Given the description of an element on the screen output the (x, y) to click on. 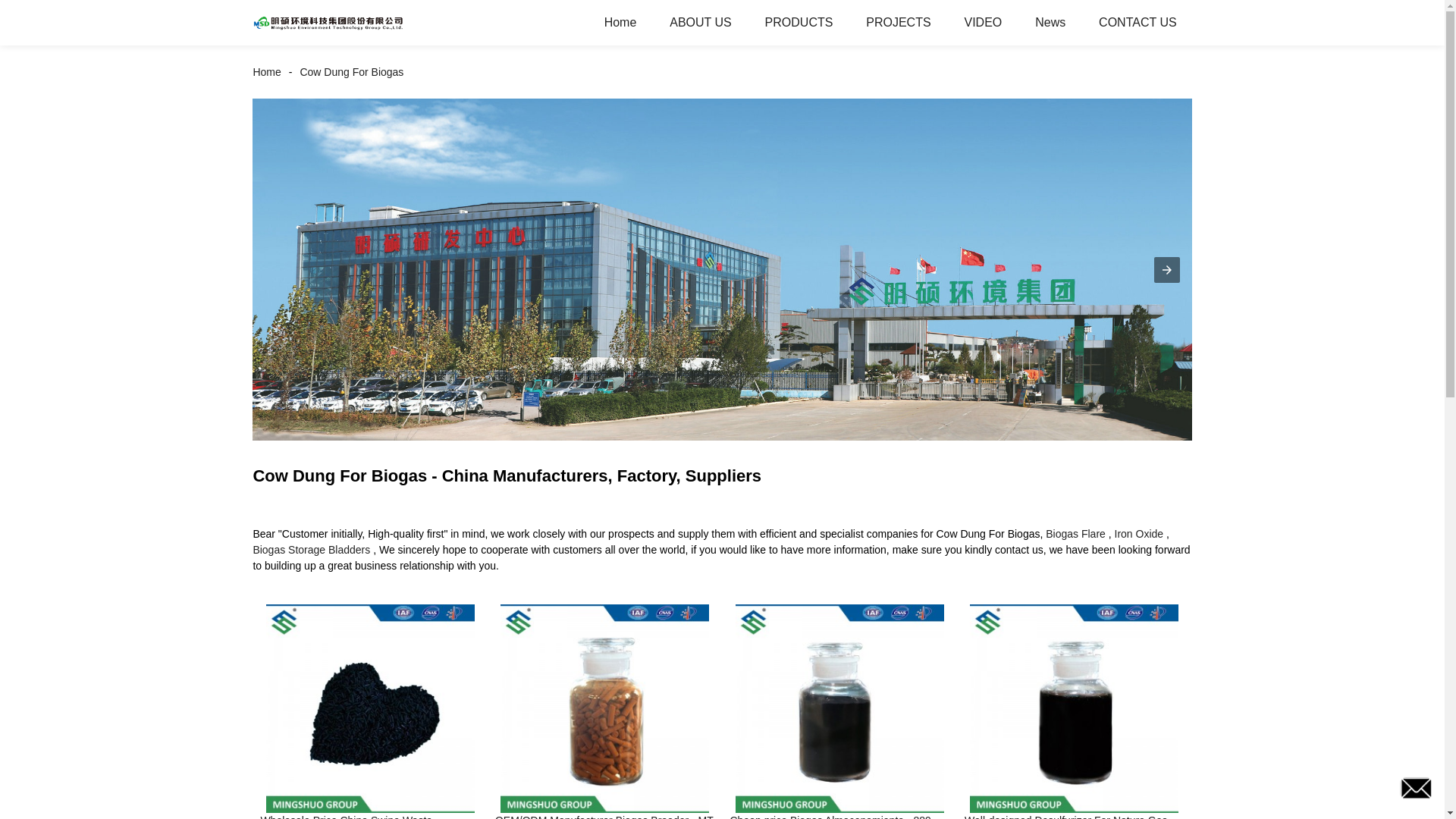
Biogas Storage Bladders (310, 549)
ABOUT US (699, 22)
VIDEO (983, 22)
News (1050, 22)
Home (620, 22)
CONTACT US (1137, 22)
Biogas Flare (1075, 533)
Cow Dung For Biogas (351, 71)
Well-designed Desulfurizer For Nature Gas - Ch... (1074, 816)
Home (269, 71)
